Given the description of an element on the screen output the (x, y) to click on. 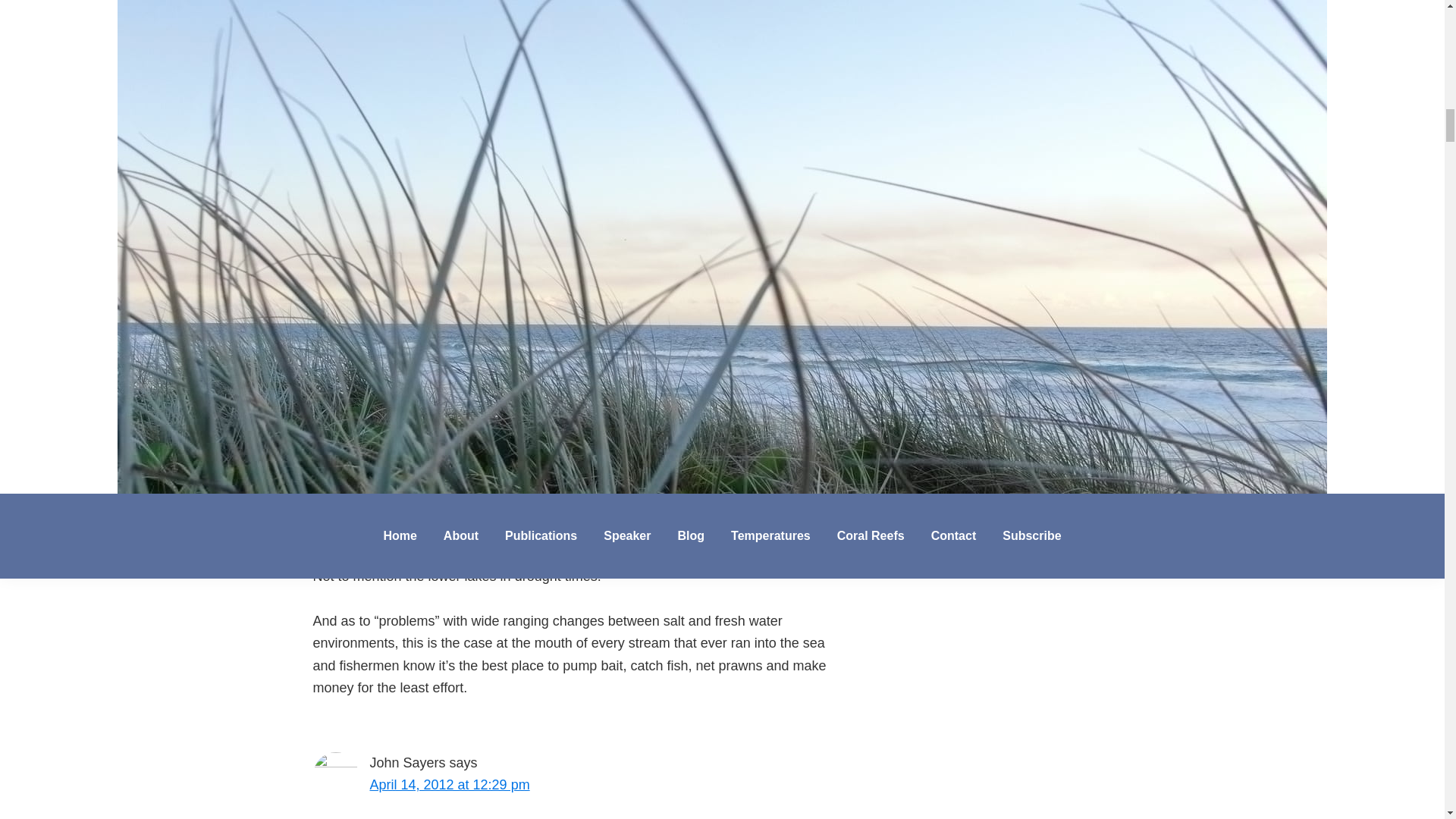
April 14, 2012 at 11:49 am (449, 75)
April 14, 2012 at 12:29 pm (449, 784)
April 14, 2012 at 12:17 pm (449, 441)
